Given the description of an element on the screen output the (x, y) to click on. 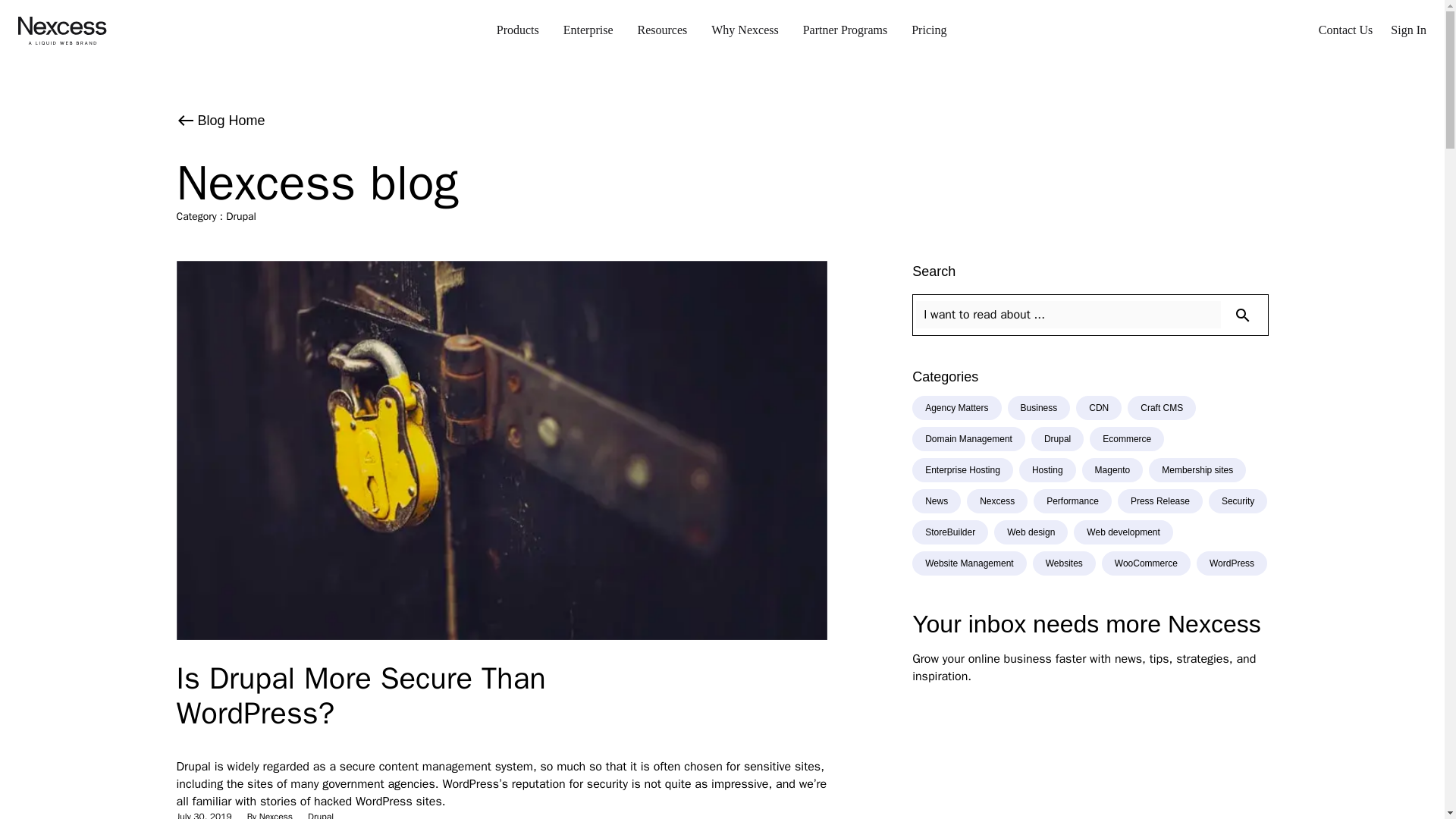
Is Drupal More Secure Than WordPress? (360, 695)
Business (1038, 407)
Why Nexcess (744, 30)
Partner Programs (844, 30)
Agency Matters (956, 407)
Resources (661, 30)
Nexcess (275, 814)
Enterprise (588, 30)
CDN (1098, 407)
Drupal (320, 814)
Blog Home (722, 120)
